Given the description of an element on the screen output the (x, y) to click on. 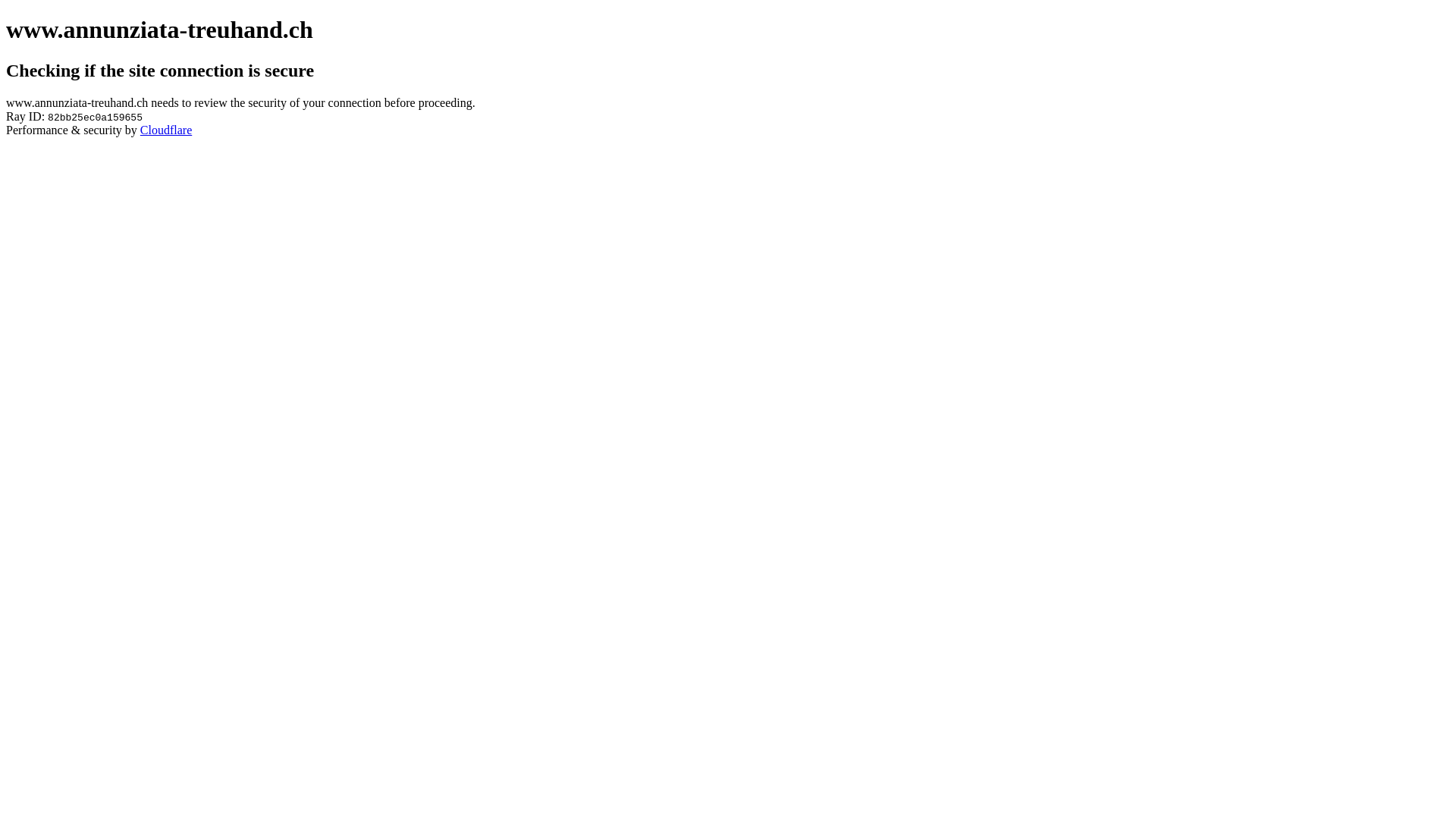
Cloudflare Element type: text (165, 129)
